Given the description of an element on the screen output the (x, y) to click on. 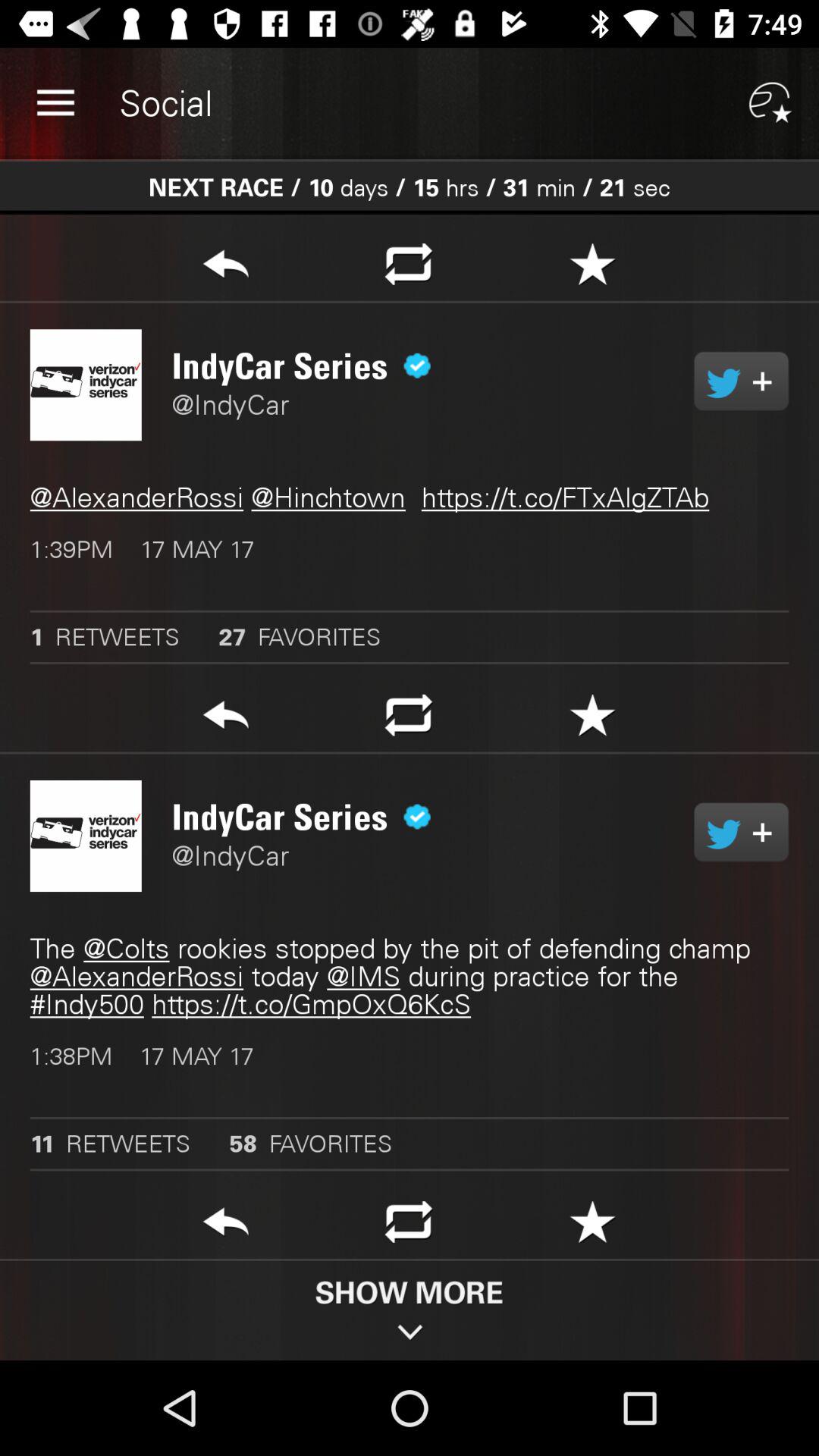
favorite the item (592, 268)
